Given the description of an element on the screen output the (x, y) to click on. 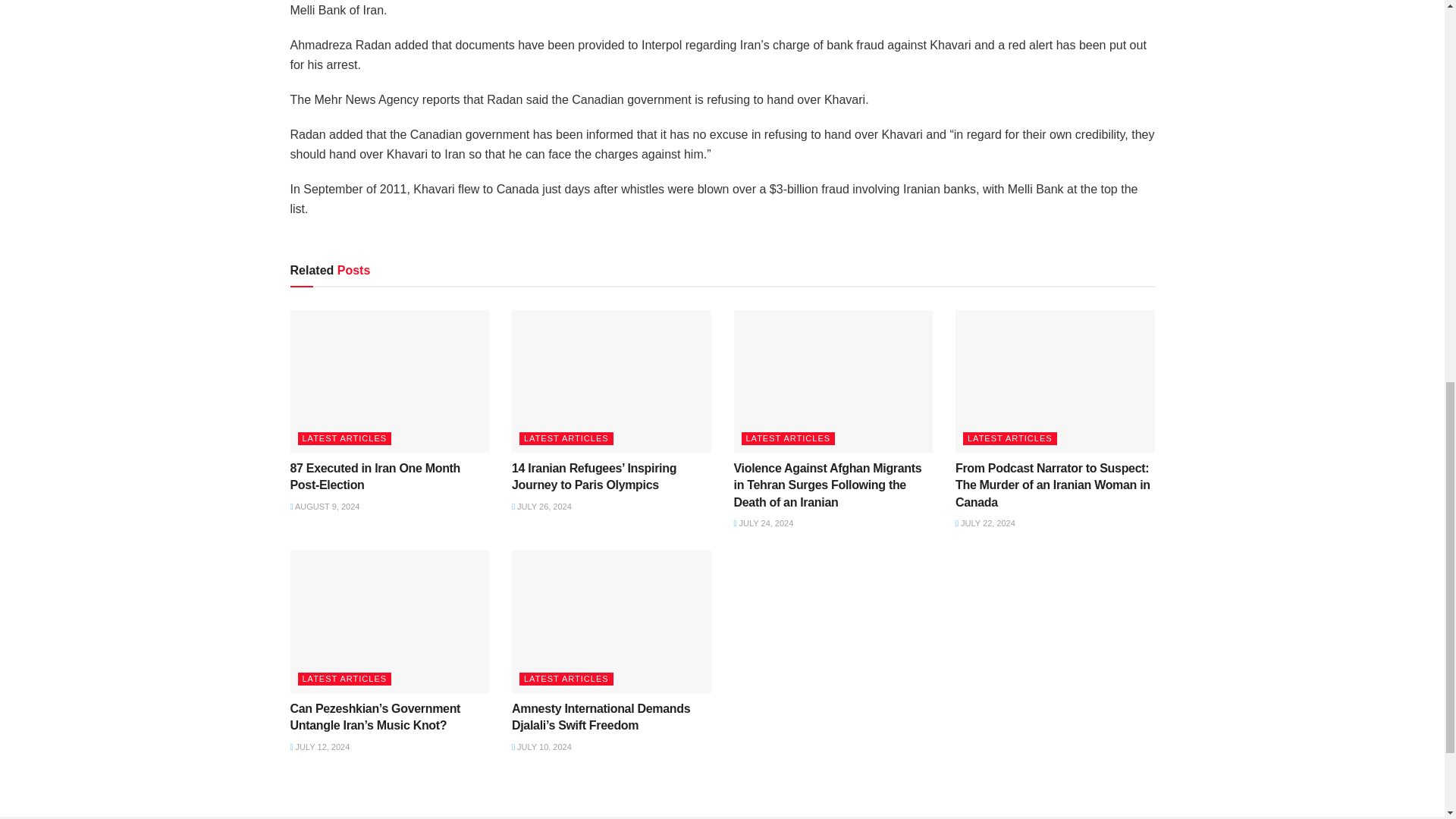
87 Executed in Iran One Month Post-Election (374, 476)
LATEST ARTICLES (344, 438)
AUGUST 9, 2024 (324, 506)
